Given the description of an element on the screen output the (x, y) to click on. 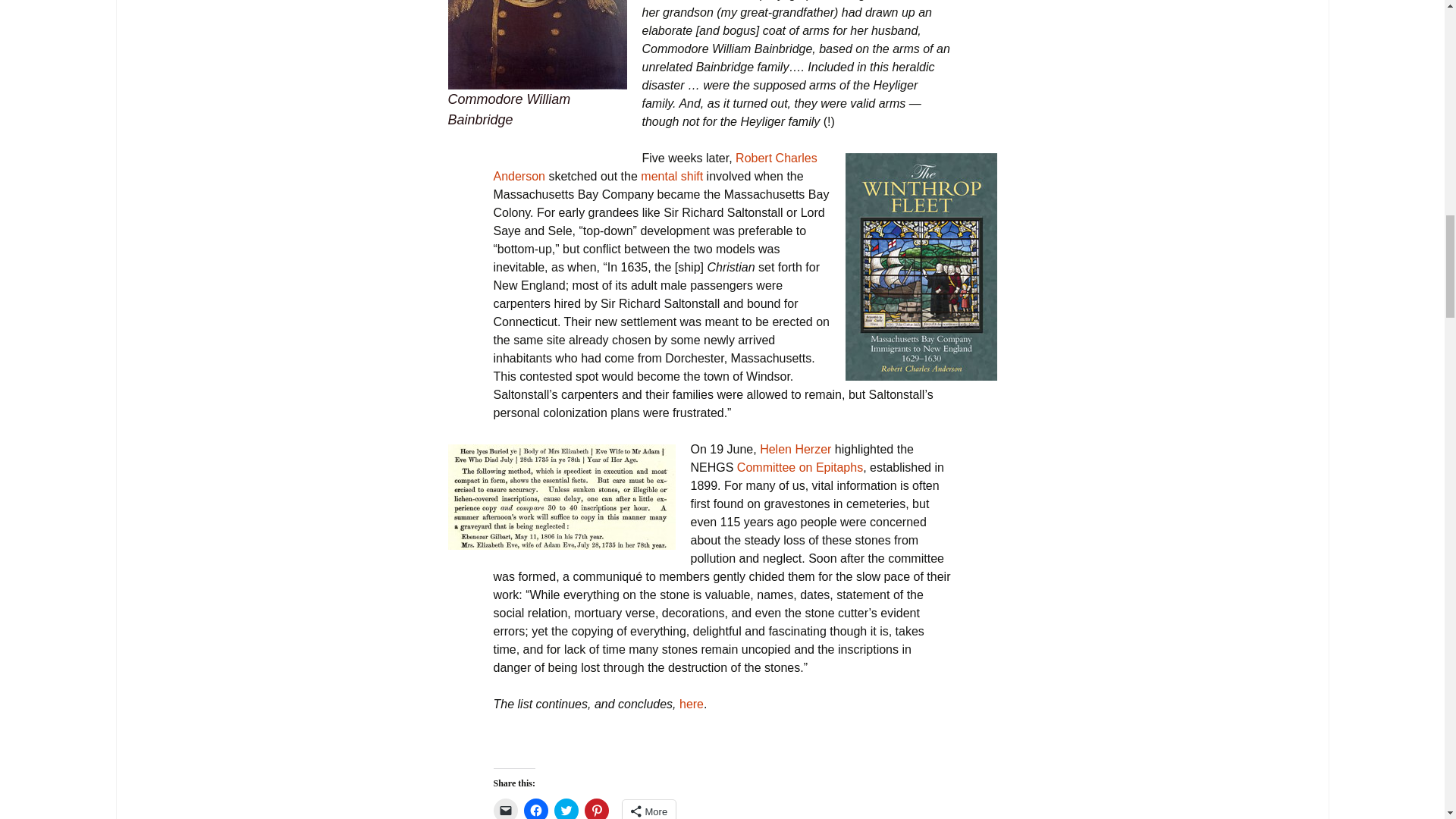
Helen Herzer (795, 449)
mental shift (670, 175)
Committee on Epitaphs (799, 467)
Robert Charles Anderson (654, 166)
